Given the description of an element on the screen output the (x, y) to click on. 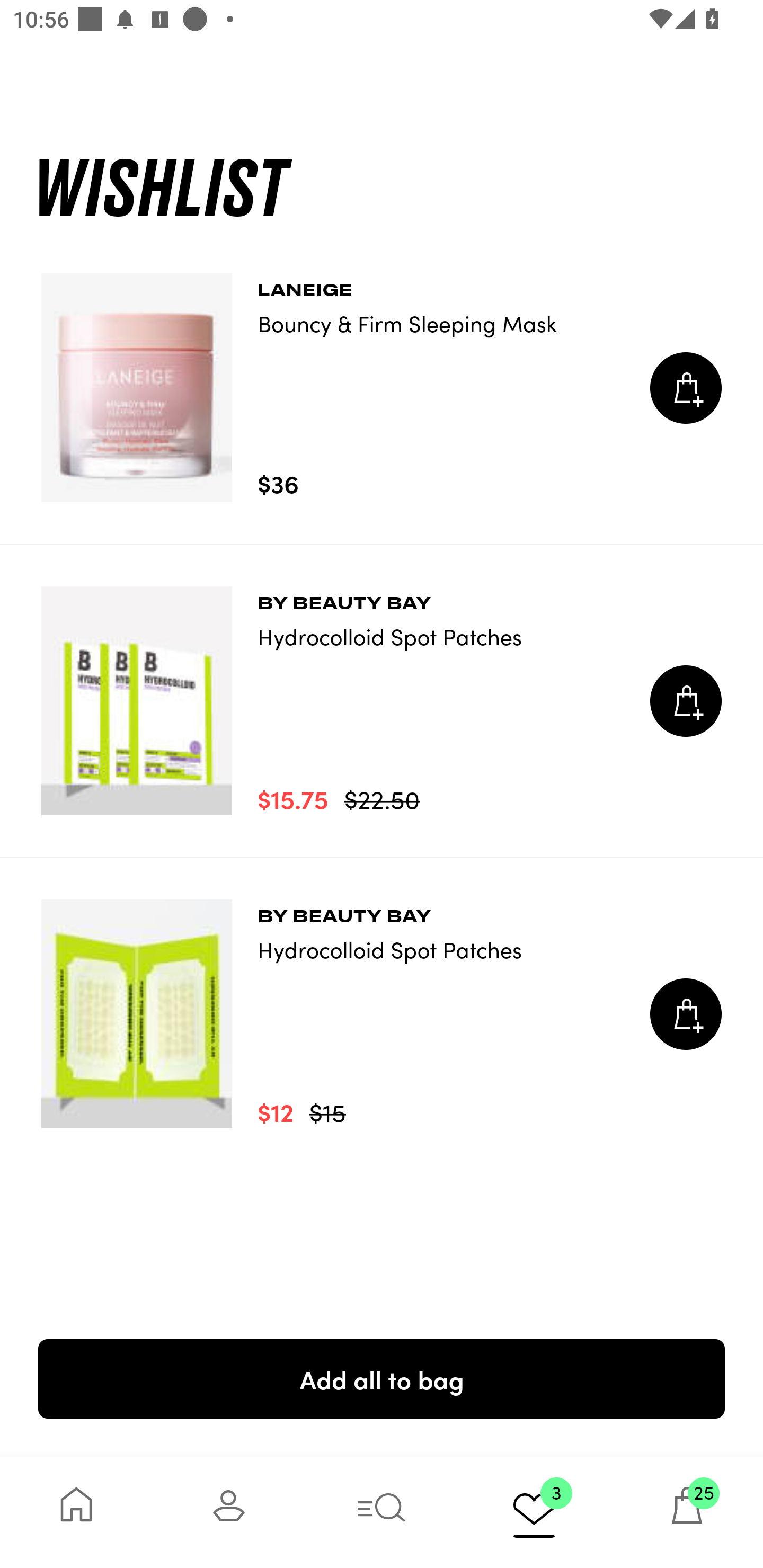
LANEIGE Bouncy & Firm Sleeping Mask $36 (381, 388)
BY BEAUTY BAY Hydrocolloid Spot Patches $12 $15 (381, 1013)
Add all to bag (381, 1379)
3 (533, 1512)
25 (686, 1512)
